Given the description of an element on the screen output the (x, y) to click on. 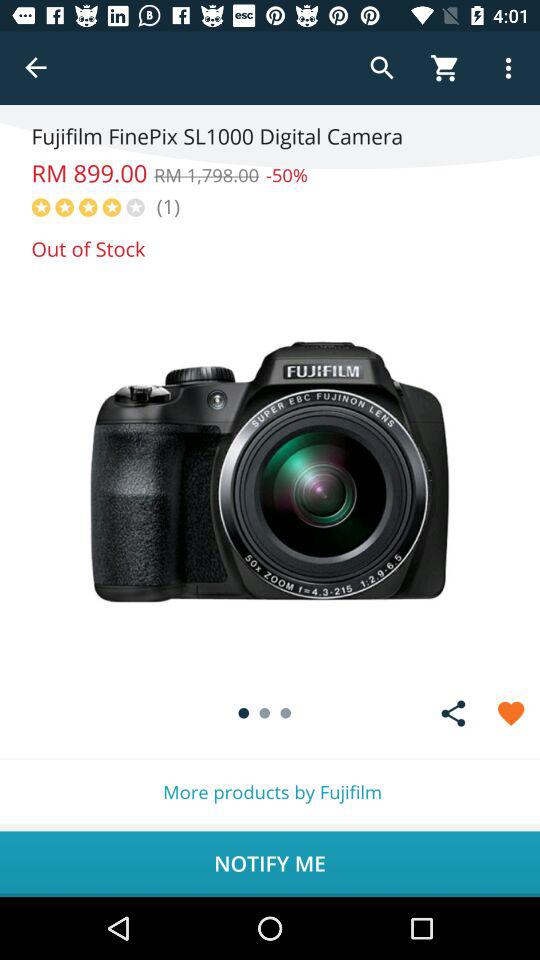
share (453, 713)
